Given the description of an element on the screen output the (x, y) to click on. 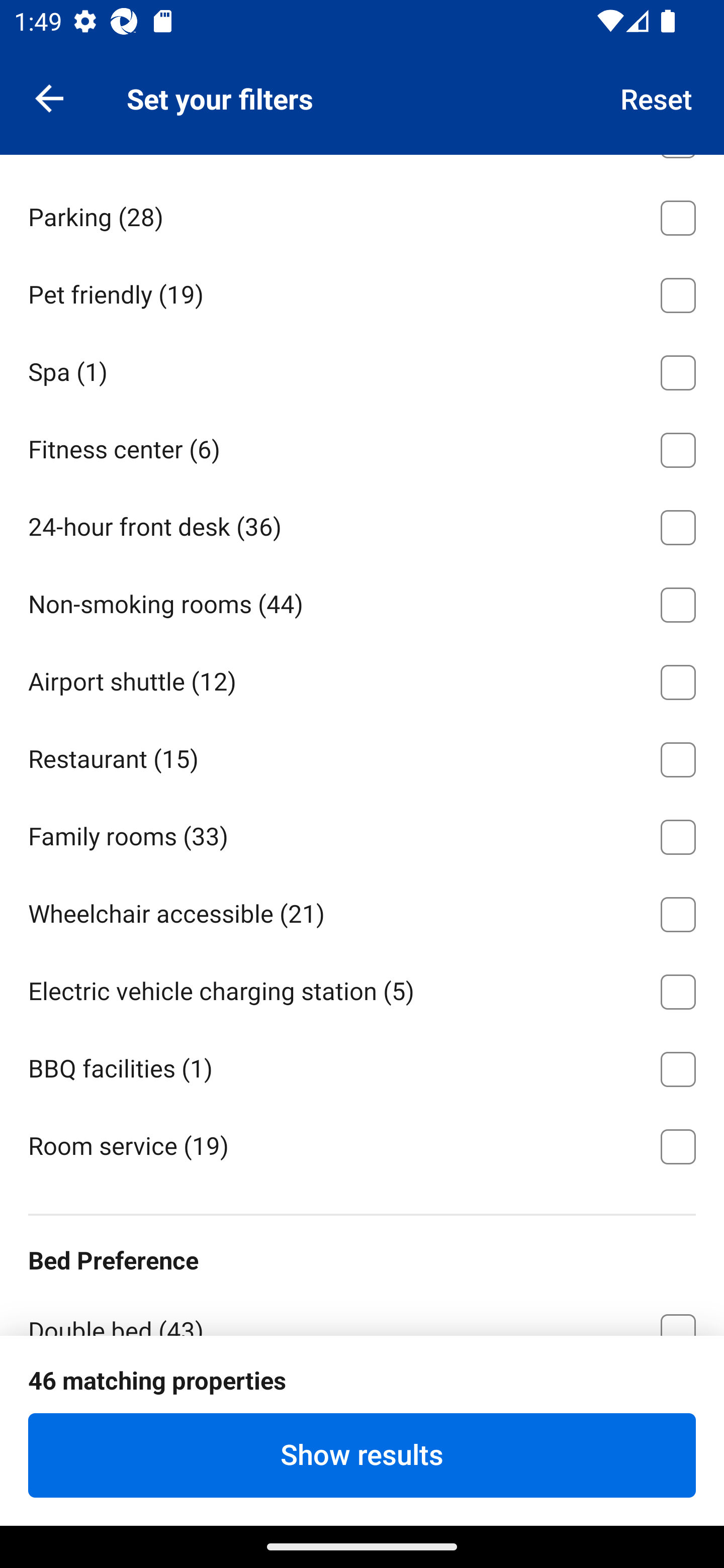
Navigate up (49, 97)
Reset (656, 97)
Parking ⁦(28) (361, 214)
Pet friendly ⁦(19) (361, 292)
Spa ⁦(1) (361, 368)
Fitness center ⁦(6) (361, 446)
24-hour front desk ⁦(36) (361, 524)
Non-smoking rooms ⁦(44) (361, 600)
Airport shuttle ⁦(12) (361, 678)
Restaurant ⁦(15) (361, 756)
Family rooms ⁦(33) (361, 832)
Wheelchair accessible ⁦(21) (361, 910)
Electric vehicle charging station ⁦(5) (361, 988)
BBQ facilities ⁦(1) (361, 1065)
Room service ⁦(19) (361, 1144)
Show results (361, 1454)
